Given the description of an element on the screen output the (x, y) to click on. 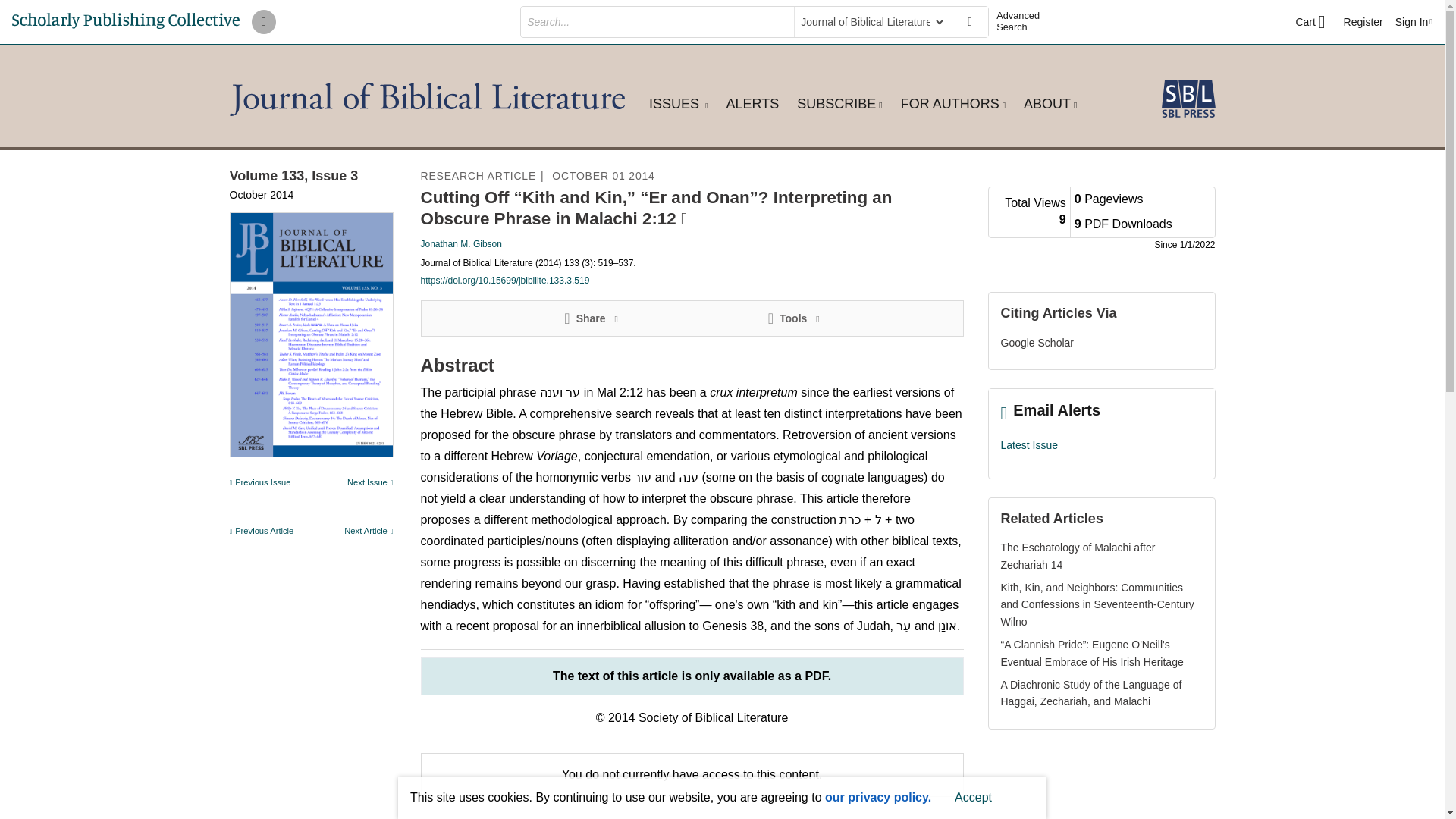
Advanced Search (1023, 21)
search input (655, 21)
Cart (1309, 22)
Register (1363, 21)
ISSUES (678, 103)
Sign In (1413, 21)
